Given the description of an element on the screen output the (x, y) to click on. 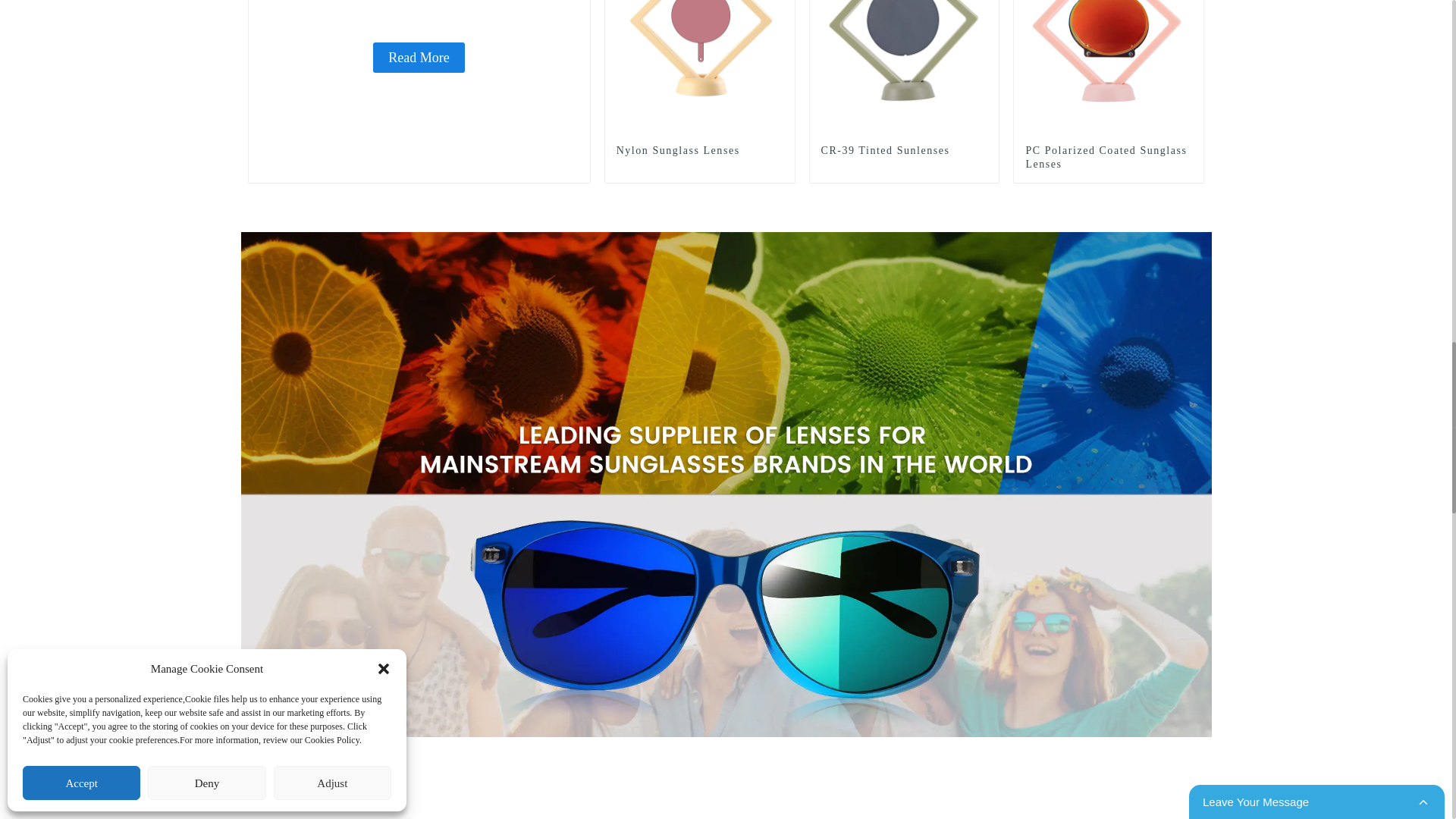
CR-39 Tinted Sunlenses (903, 23)
Nylon Sunglass Lenses (699, 151)
CR39 Coated Lens (418, 57)
CR-39 Tinted Sunlenses (904, 151)
Nylon Sunglass Lenses  (699, 23)
Read More (418, 57)
CR-39 Tinted Sunlenses (904, 151)
PC Polarized Coated Sunglass Lenses (1108, 157)
Nylon Sunglass Lenses  (699, 151)
